Given the description of an element on the screen output the (x, y) to click on. 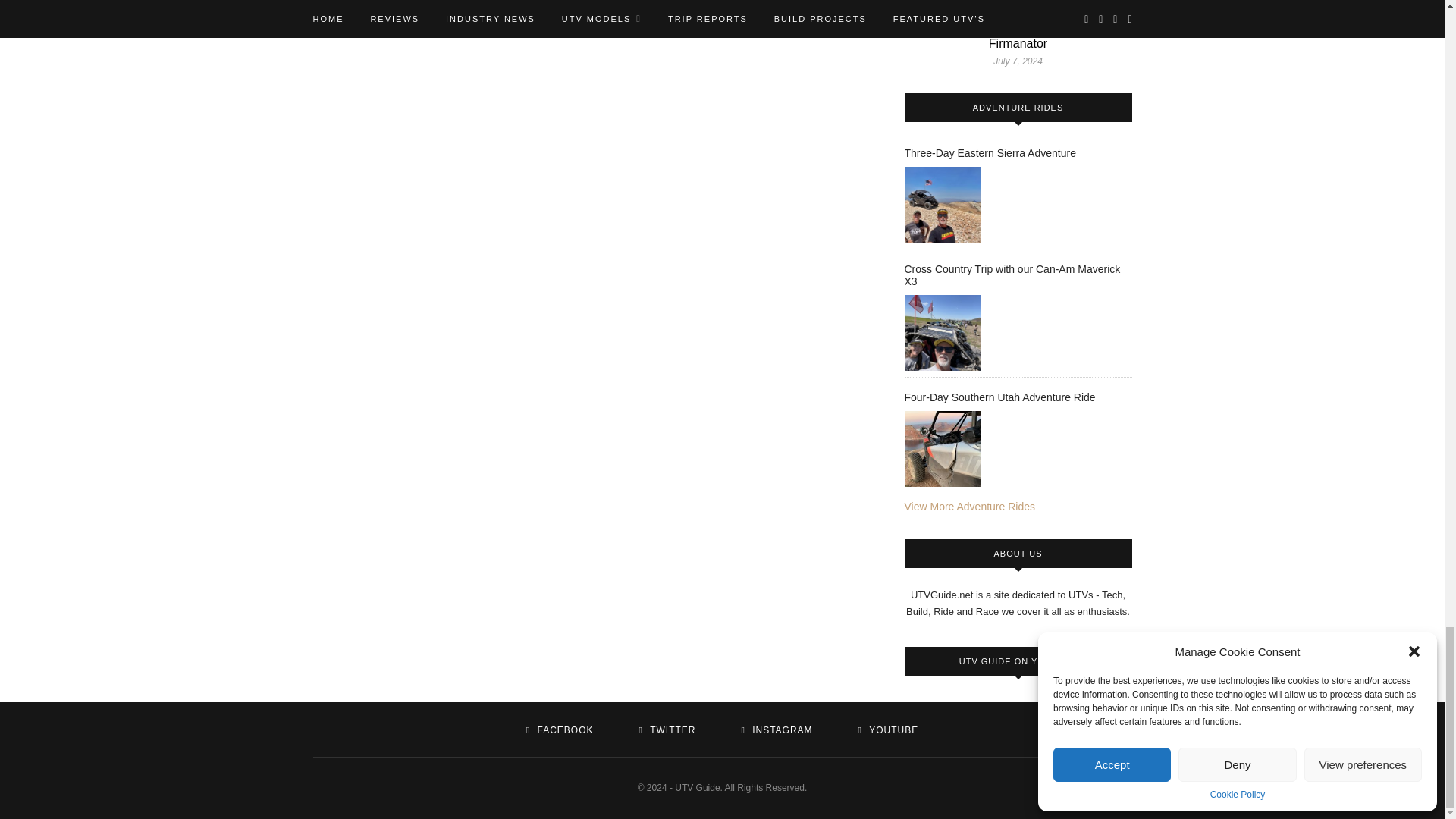
Four-Day Southern Utah Adventure Ride (941, 448)
Cross Country Trip with our Can-Am Maverick X3 (941, 332)
Three-Day Eastern Sierra Adventure (941, 204)
